Given the description of an element on the screen output the (x, y) to click on. 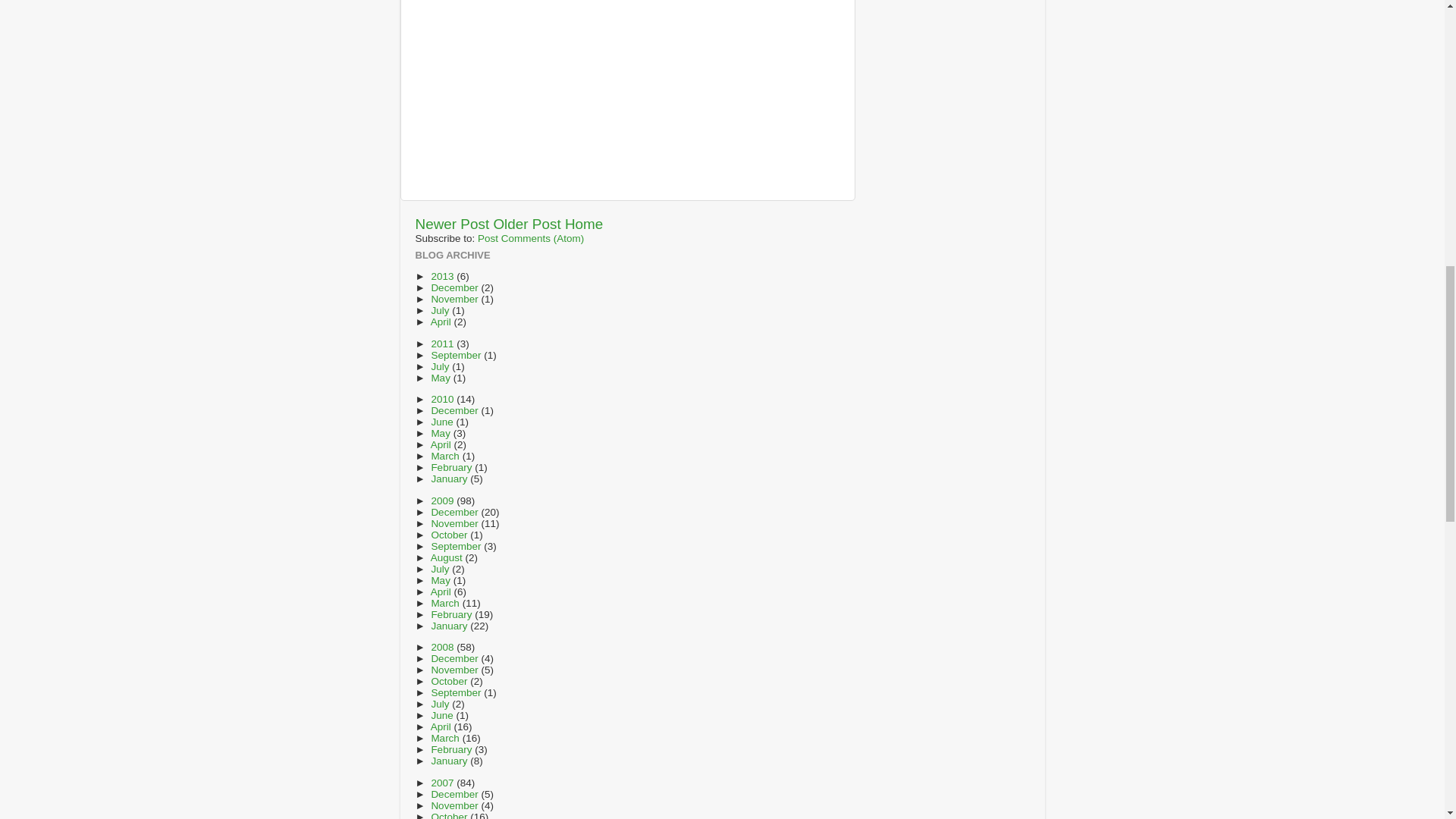
July (440, 366)
Newer Post (451, 223)
December (455, 287)
Home (583, 223)
April (442, 321)
May (441, 378)
July (440, 310)
2013 (443, 276)
Older Post (526, 223)
2011 (443, 343)
September (456, 355)
November (455, 298)
Older Post (526, 223)
Newer Post (451, 223)
